Given the description of an element on the screen output the (x, y) to click on. 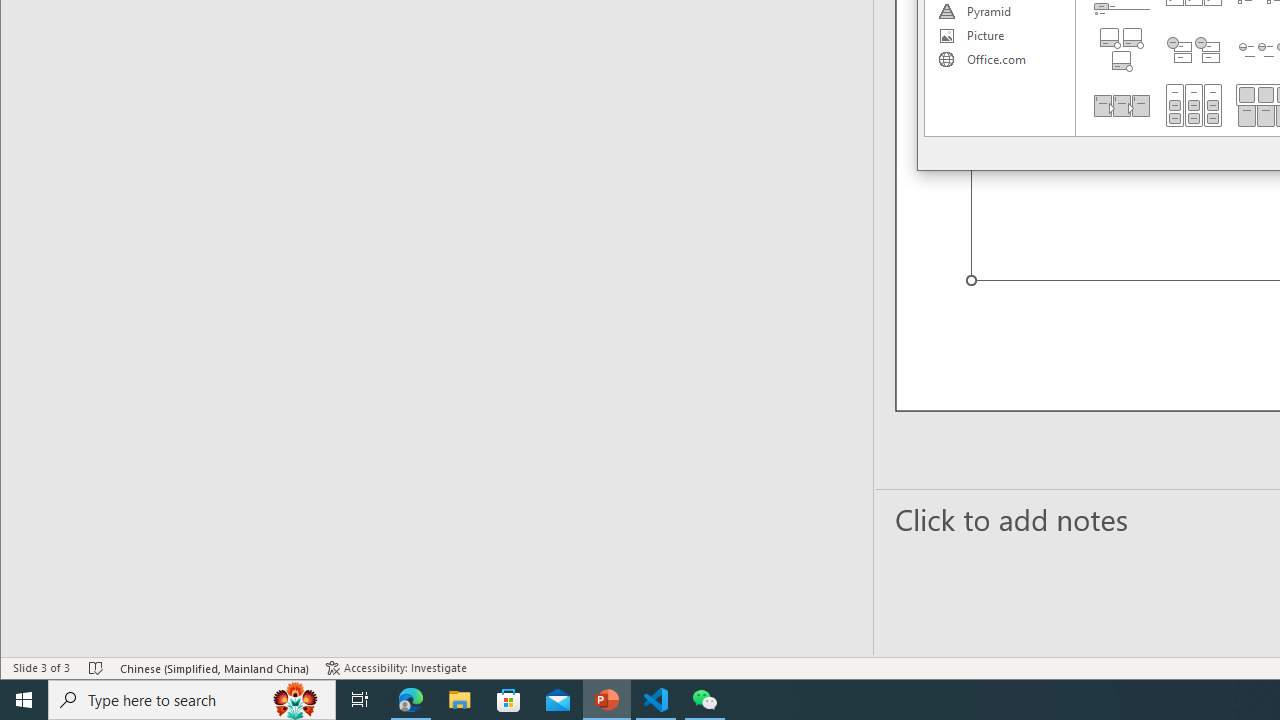
Picture (999, 35)
Pyramid (999, 11)
Search highlights icon opens search home window (295, 699)
Type here to search (191, 699)
Stacked List (1194, 49)
